Given the description of an element on the screen output the (x, y) to click on. 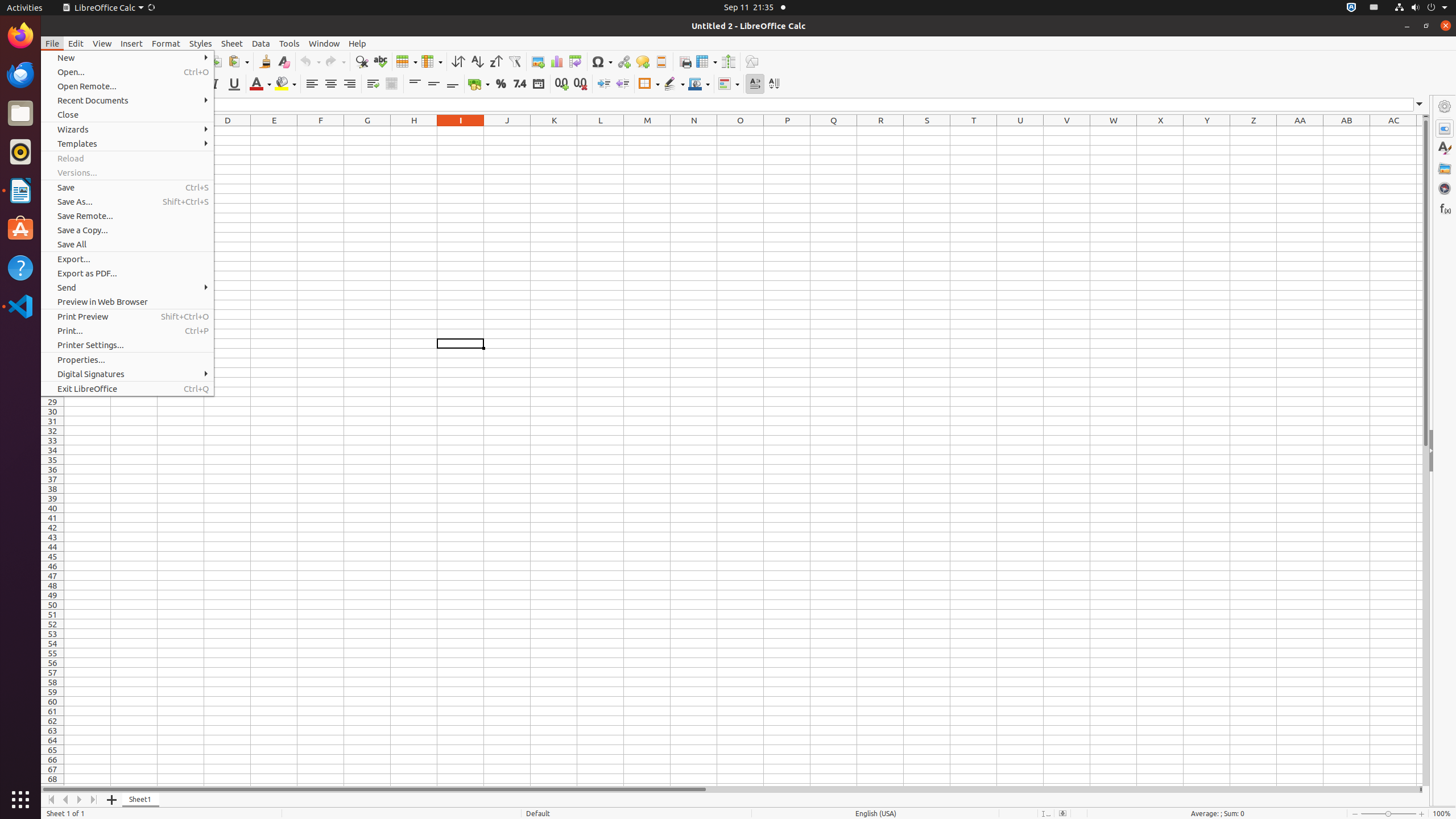
T1 Element type: table-cell (973, 130)
AB1 Element type: table-cell (1346, 130)
Recent Documents Element type: menu (126, 100)
M1 Element type: table-cell (646, 130)
Printer Settings... Element type: menu-item (126, 344)
